Given the description of an element on the screen output the (x, y) to click on. 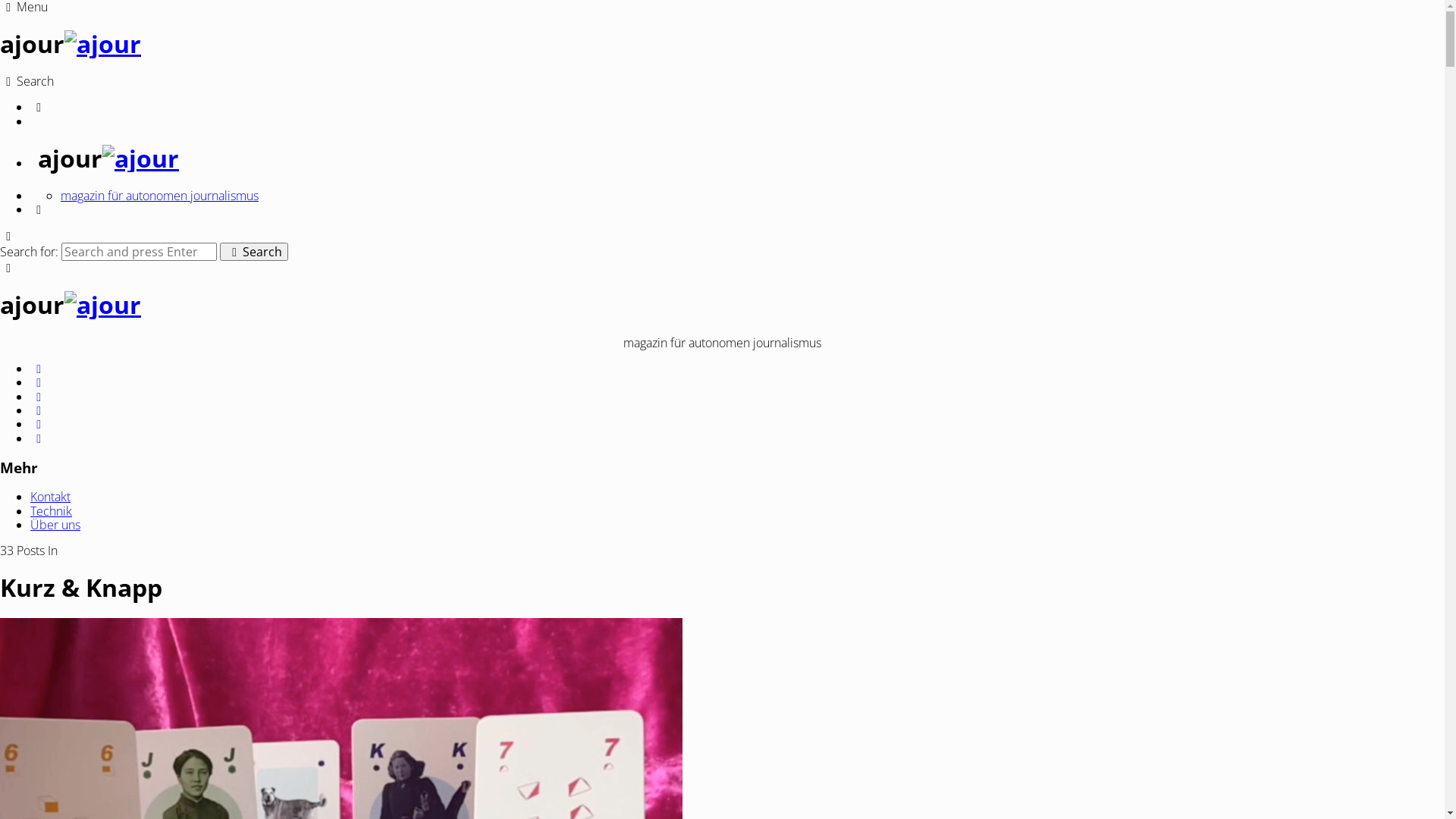
Search Element type: text (253, 251)
Kontakt Element type: text (50, 496)
Technik Element type: text (51, 510)
